Given the description of an element on the screen output the (x, y) to click on. 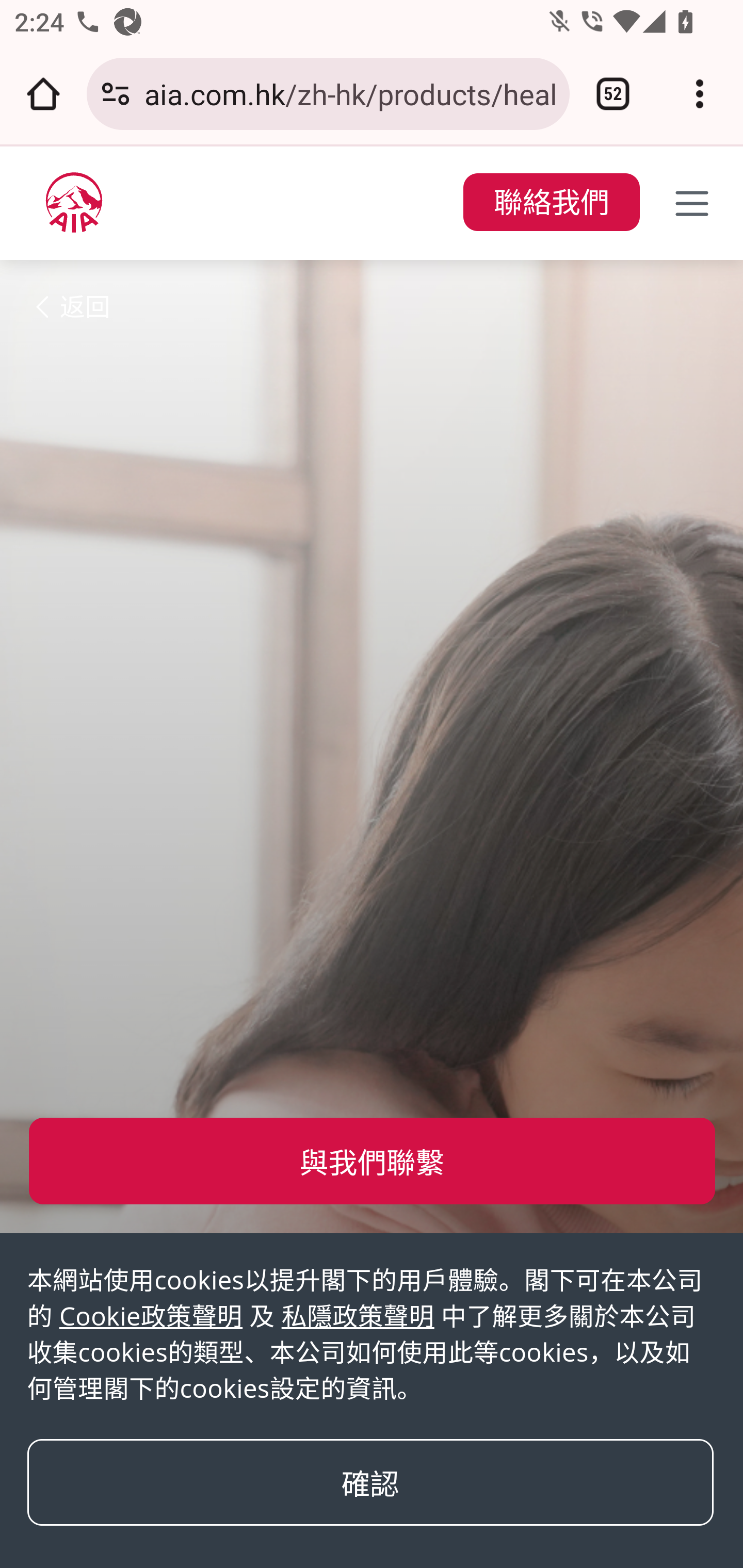
Open the home page (43, 93)
Connection is secure (115, 93)
Switch or close tabs (612, 93)
Customize and control Google Chrome (699, 93)
zh-hk (73, 202)
聯絡我們 (551, 203)
Toggle navigation (691, 203)
